Given the description of an element on the screen output the (x, y) to click on. 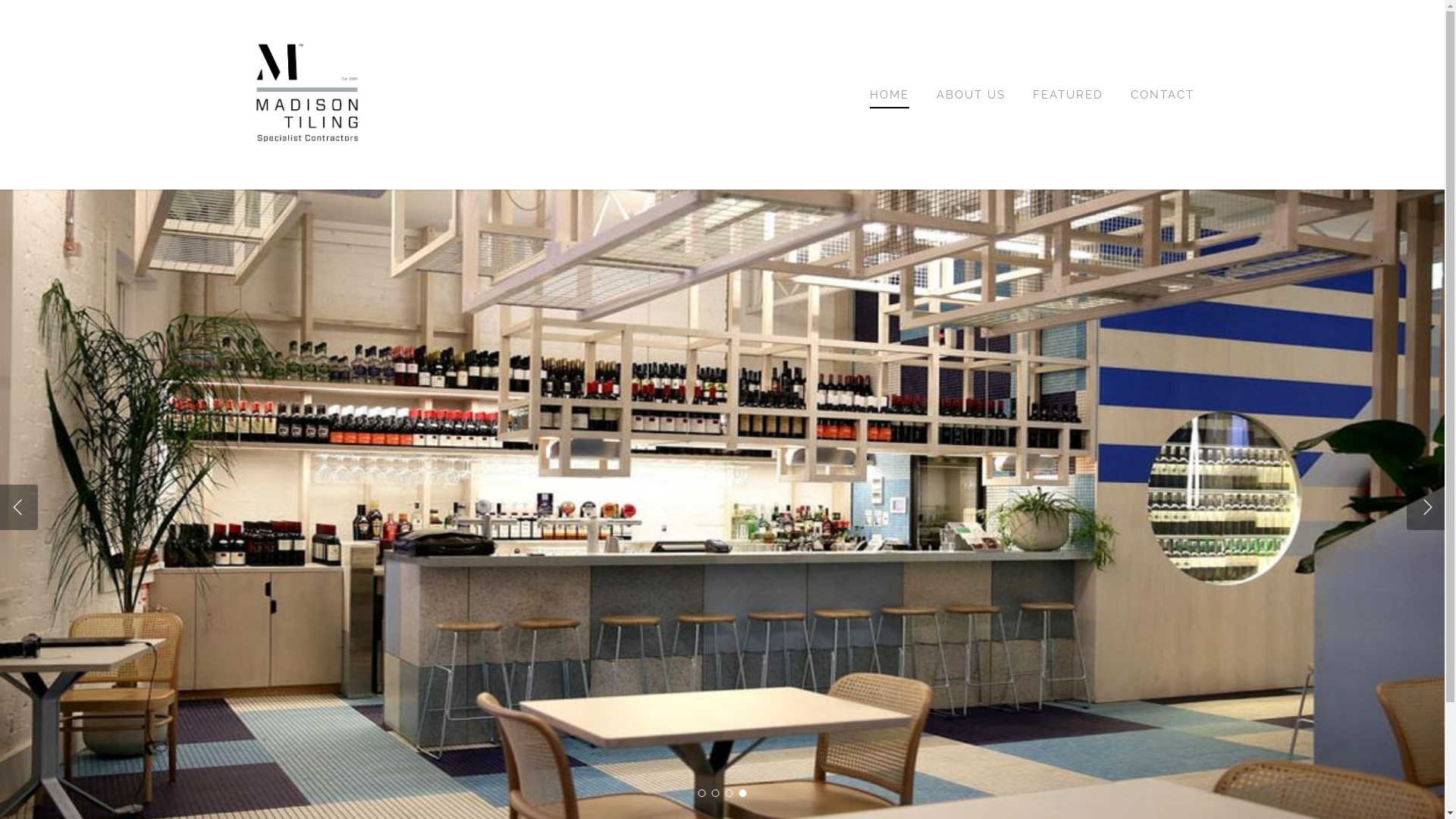
CONTACT Element type: text (1162, 94)
FEATURED Element type: text (1067, 94)
HOME Element type: text (889, 94)
ABOUT US Element type: text (970, 94)
